Given the description of an element on the screen output the (x, y) to click on. 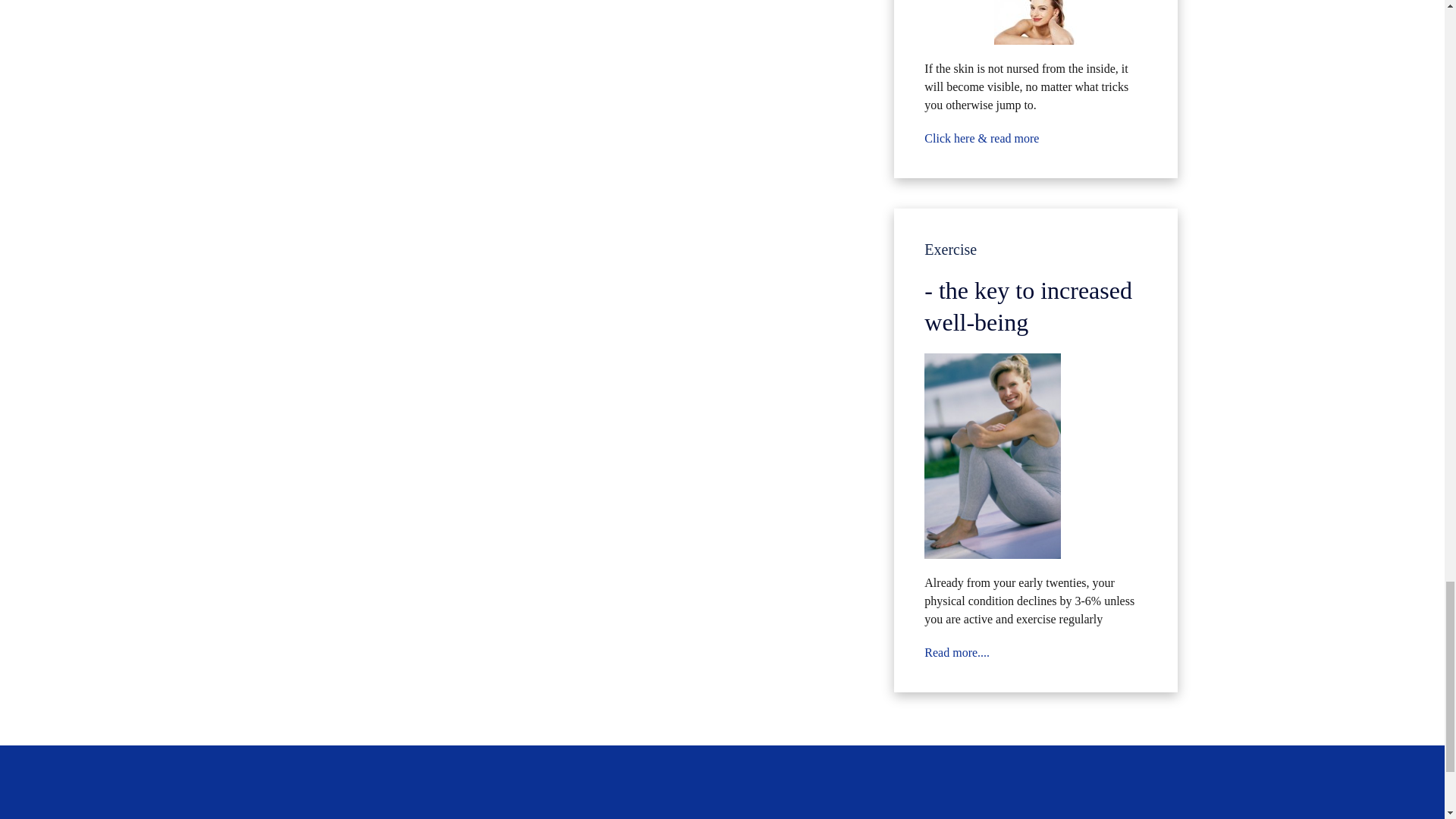
Antiaging -with Vitamin and Minerals (1035, 22)
